Given the description of an element on the screen output the (x, y) to click on. 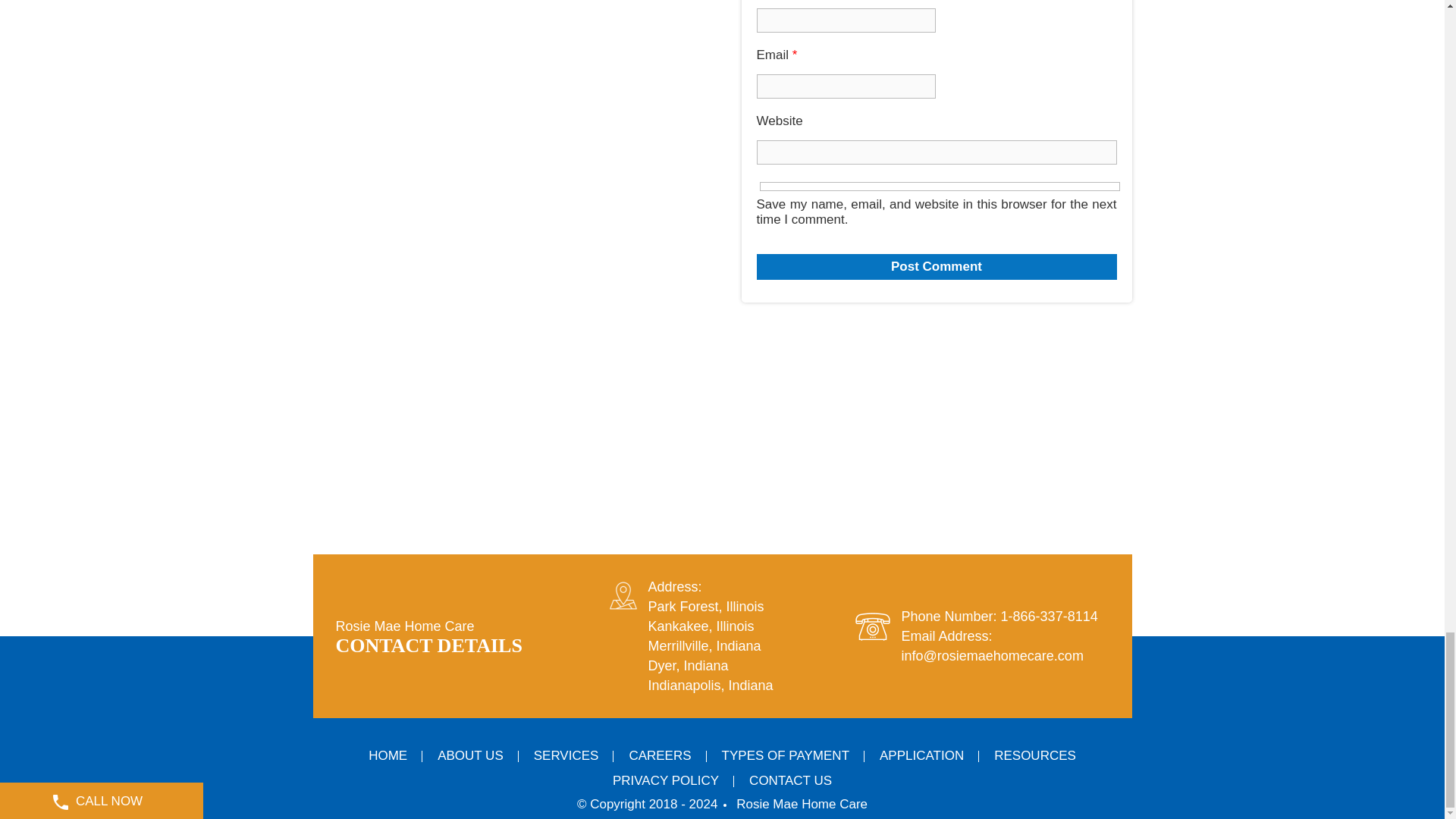
Post Comment (936, 266)
APPLICATION (921, 755)
CONTACT US (790, 780)
RESOURCES (1034, 755)
TYPES OF PAYMENT (785, 755)
ABOUT US (470, 755)
yes (939, 185)
Post Comment (936, 266)
SERVICES (566, 755)
PRIVACY POLICY (664, 780)
